Given the description of an element on the screen output the (x, y) to click on. 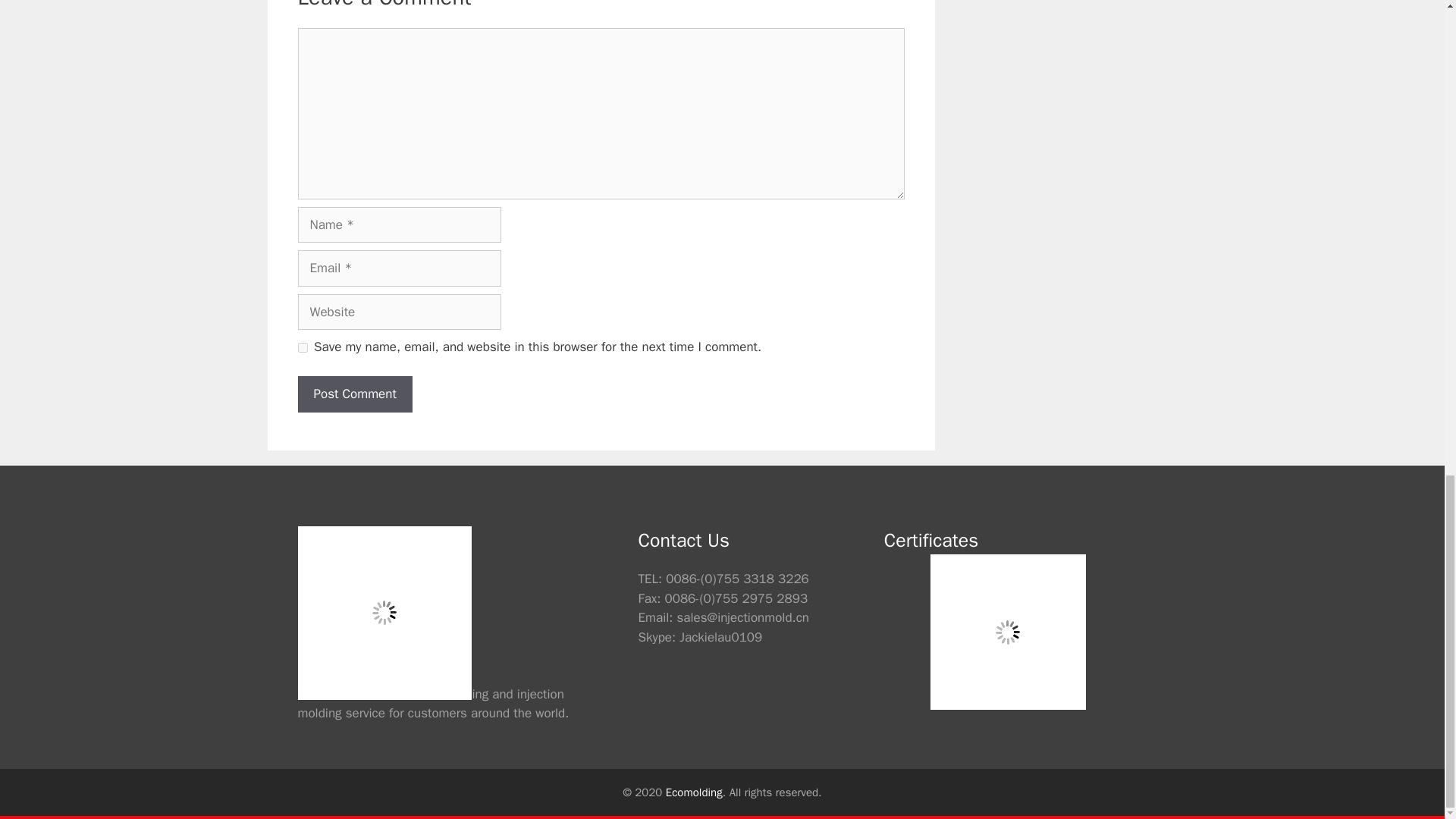
ecomolding-logo-after (383, 613)
yes (302, 347)
certification (1008, 632)
Post Comment (354, 393)
